Given the description of an element on the screen output the (x, y) to click on. 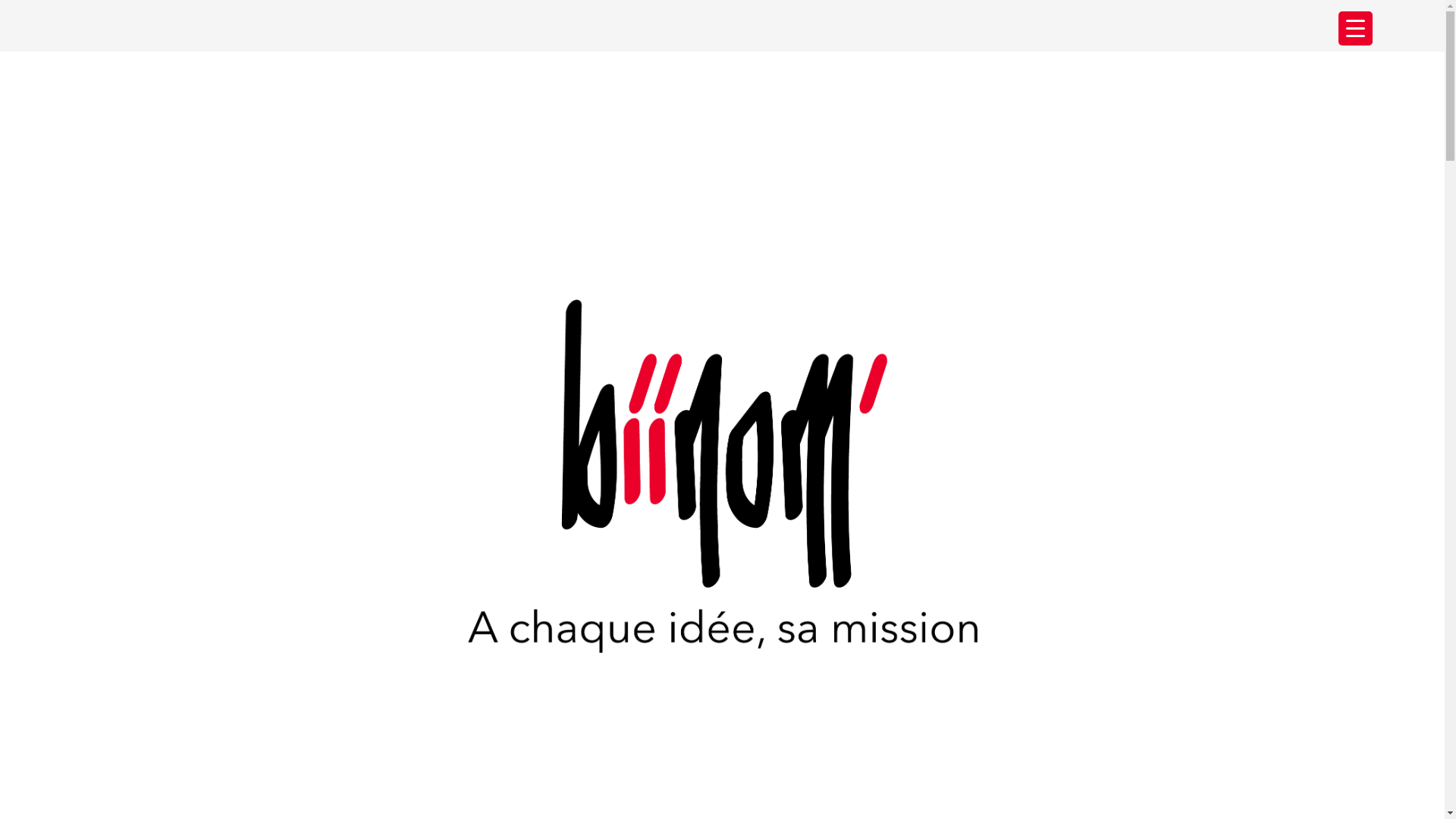
Biinom-fond_blanc_claim Element type: hover (721, 476)
